Given the description of an element on the screen output the (x, y) to click on. 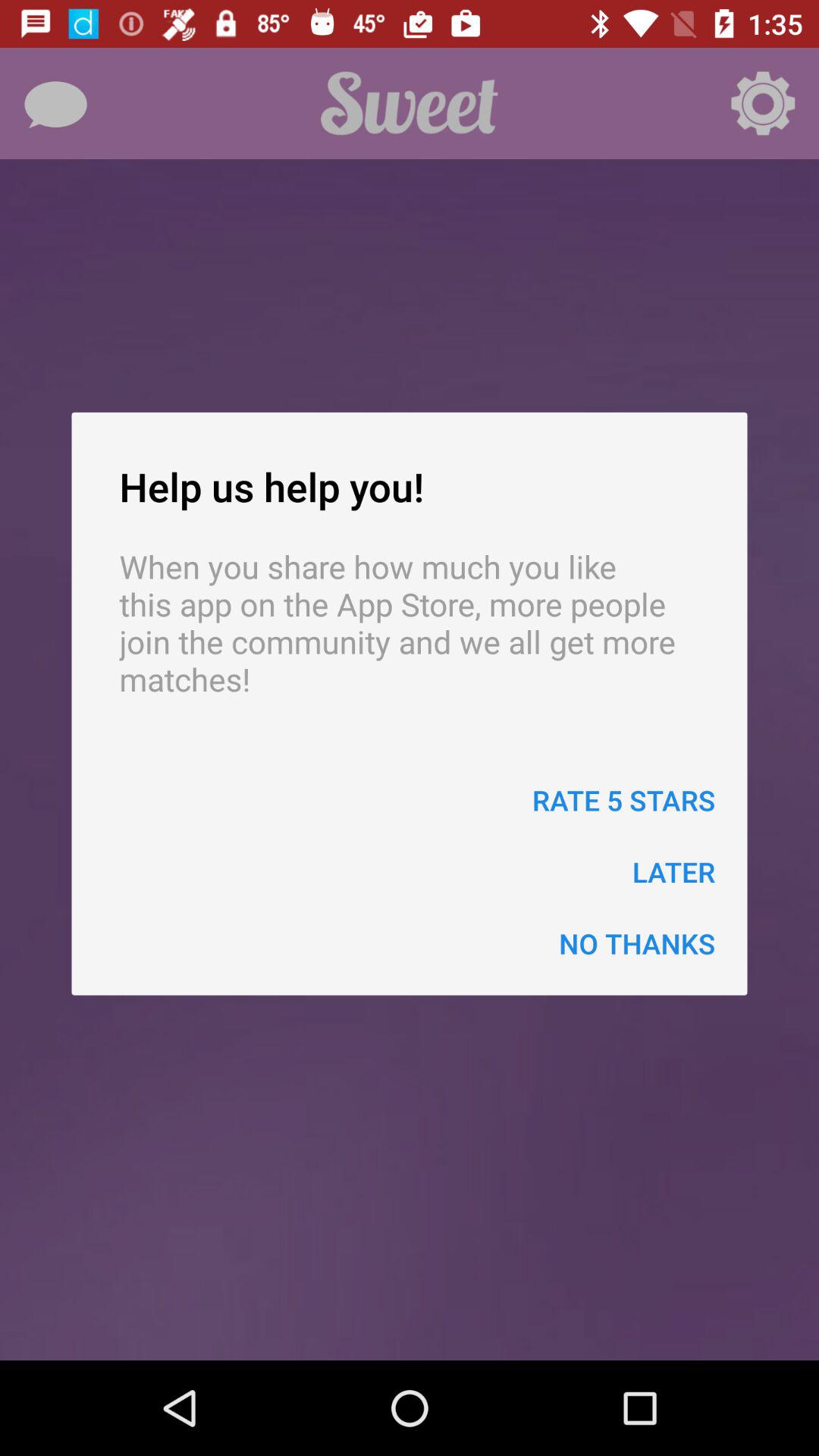
choose the icon above no thanks item (673, 871)
